Given the description of an element on the screen output the (x, y) to click on. 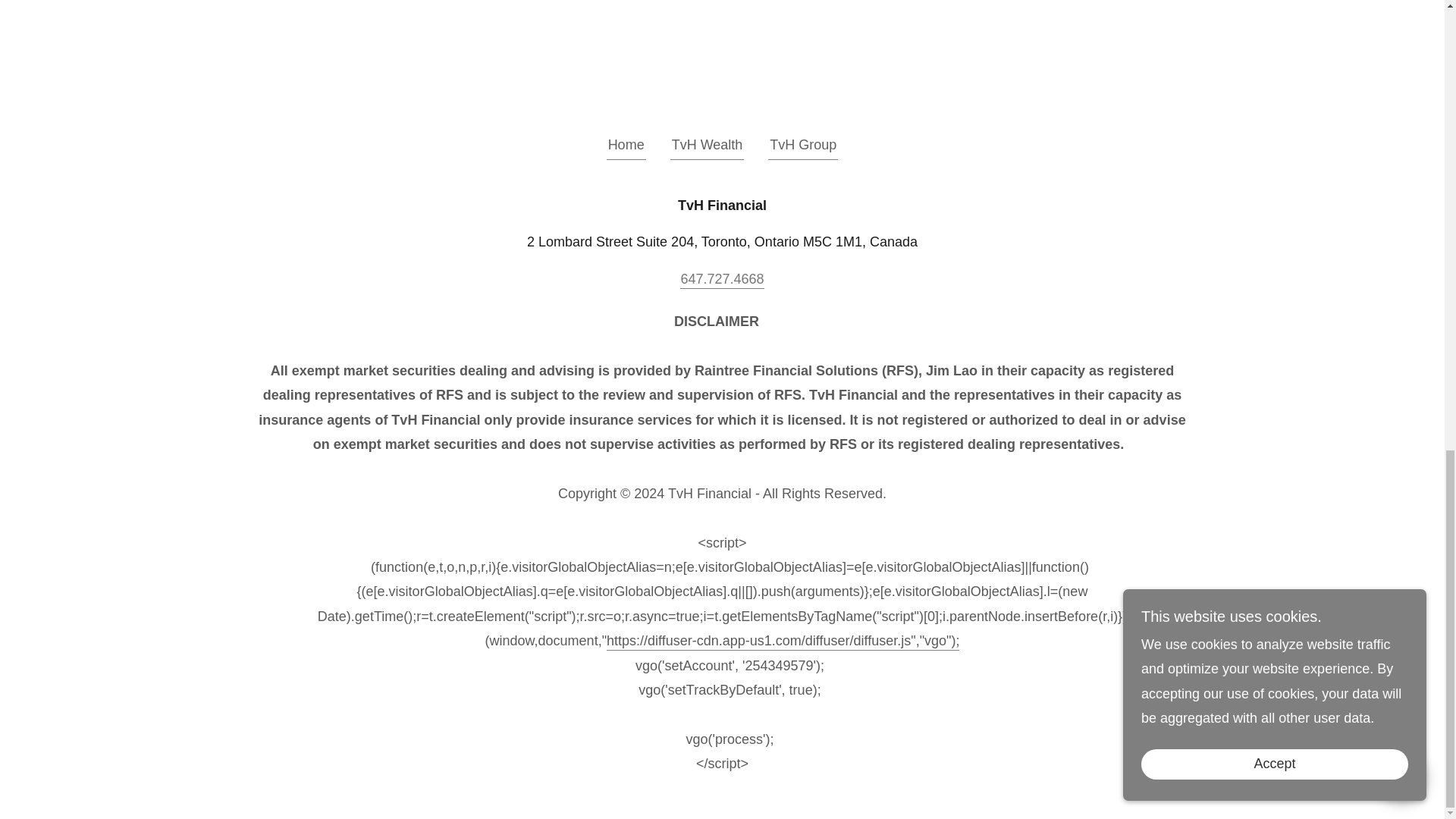
TvH Wealth (706, 147)
Home (626, 147)
TvH Group (803, 147)
647.727.4668 (720, 280)
